Given the description of an element on the screen output the (x, y) to click on. 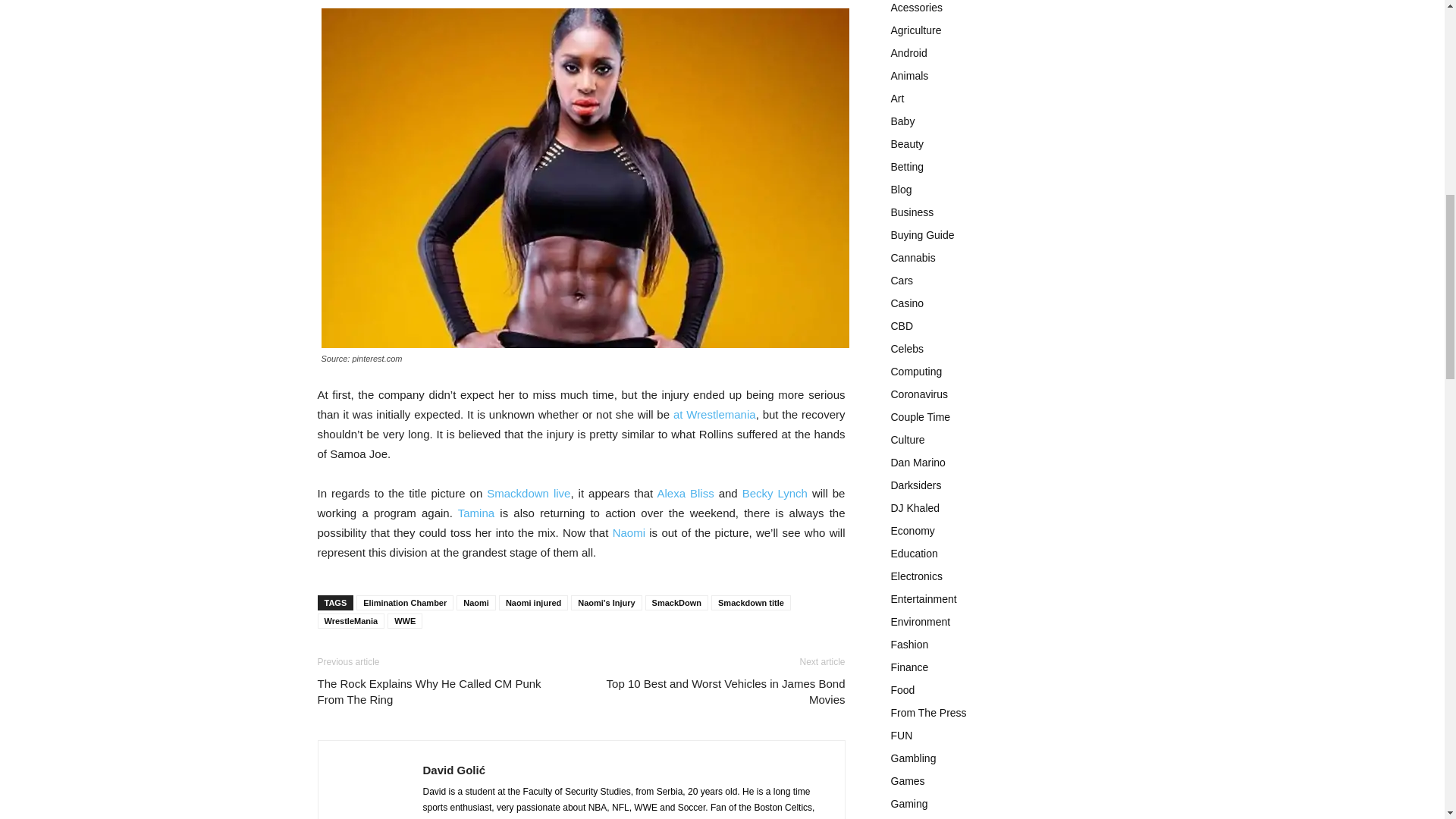
Becky Lynch (775, 492)
Tamina (476, 512)
Naomi (628, 532)
Smackdown live (528, 492)
Alexa Bliss (684, 492)
Elimination Chamber (404, 602)
at Wrestlemania (713, 413)
